Given the description of an element on the screen output the (x, y) to click on. 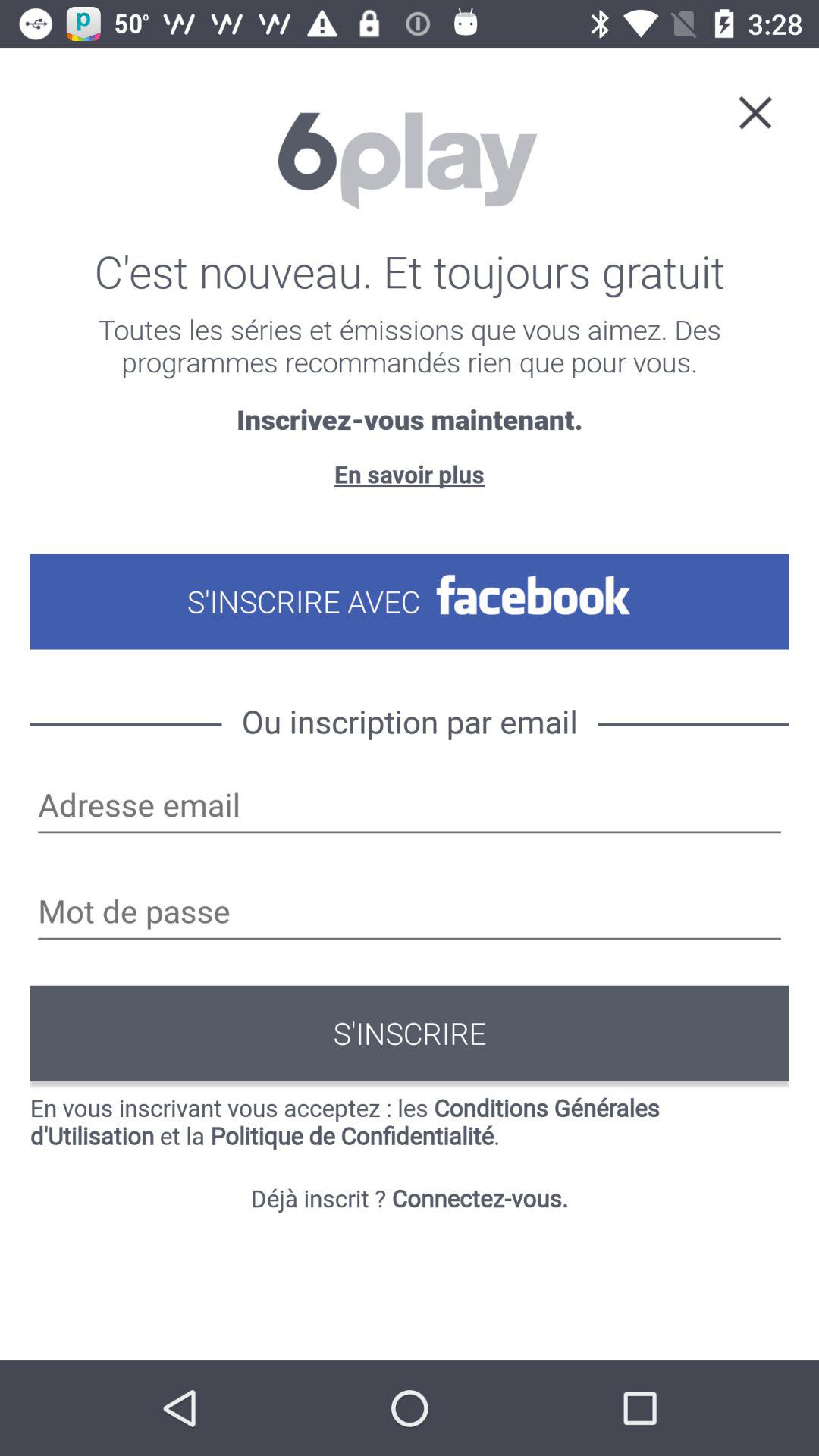
select icon above s'inscrire avec icon (409, 473)
